Given the description of an element on the screen output the (x, y) to click on. 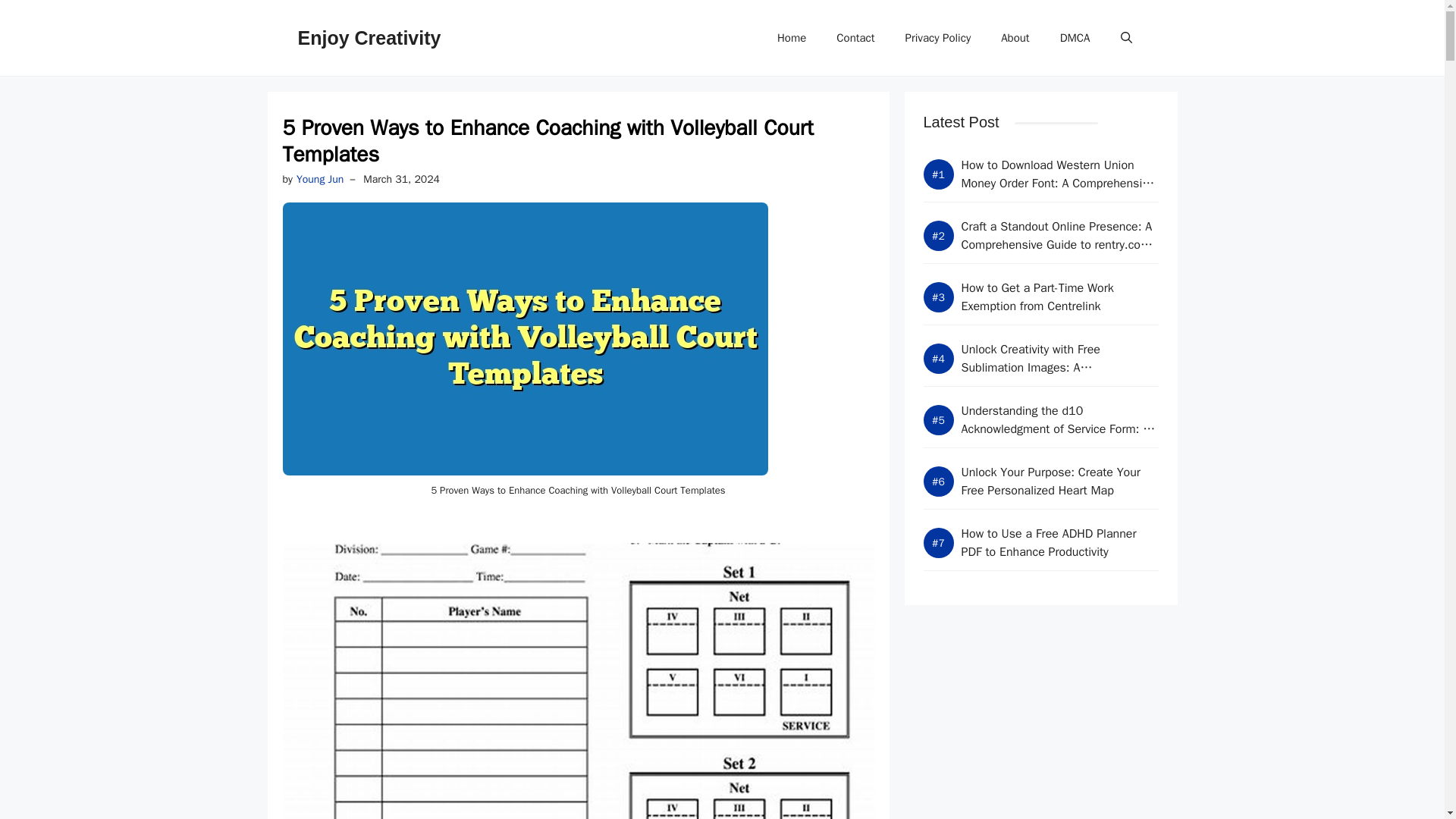
Contact (855, 37)
Young Jun (320, 178)
About (1014, 37)
Privacy Policy (938, 37)
Enjoy Creativity (369, 37)
Home (791, 37)
DMCA (1075, 37)
